Given the description of an element on the screen output the (x, y) to click on. 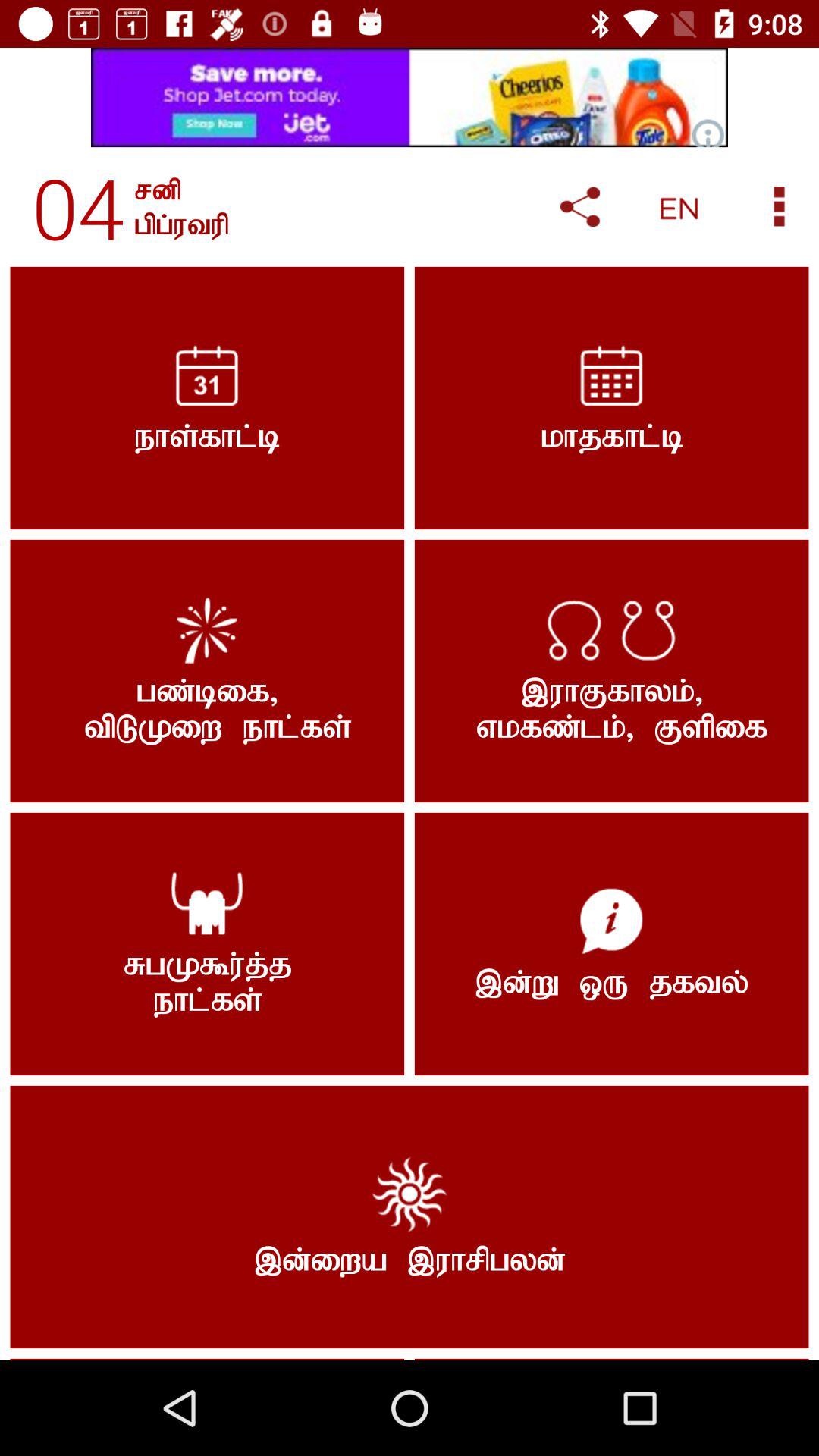
advertisement area (409, 97)
